Given the description of an element on the screen output the (x, y) to click on. 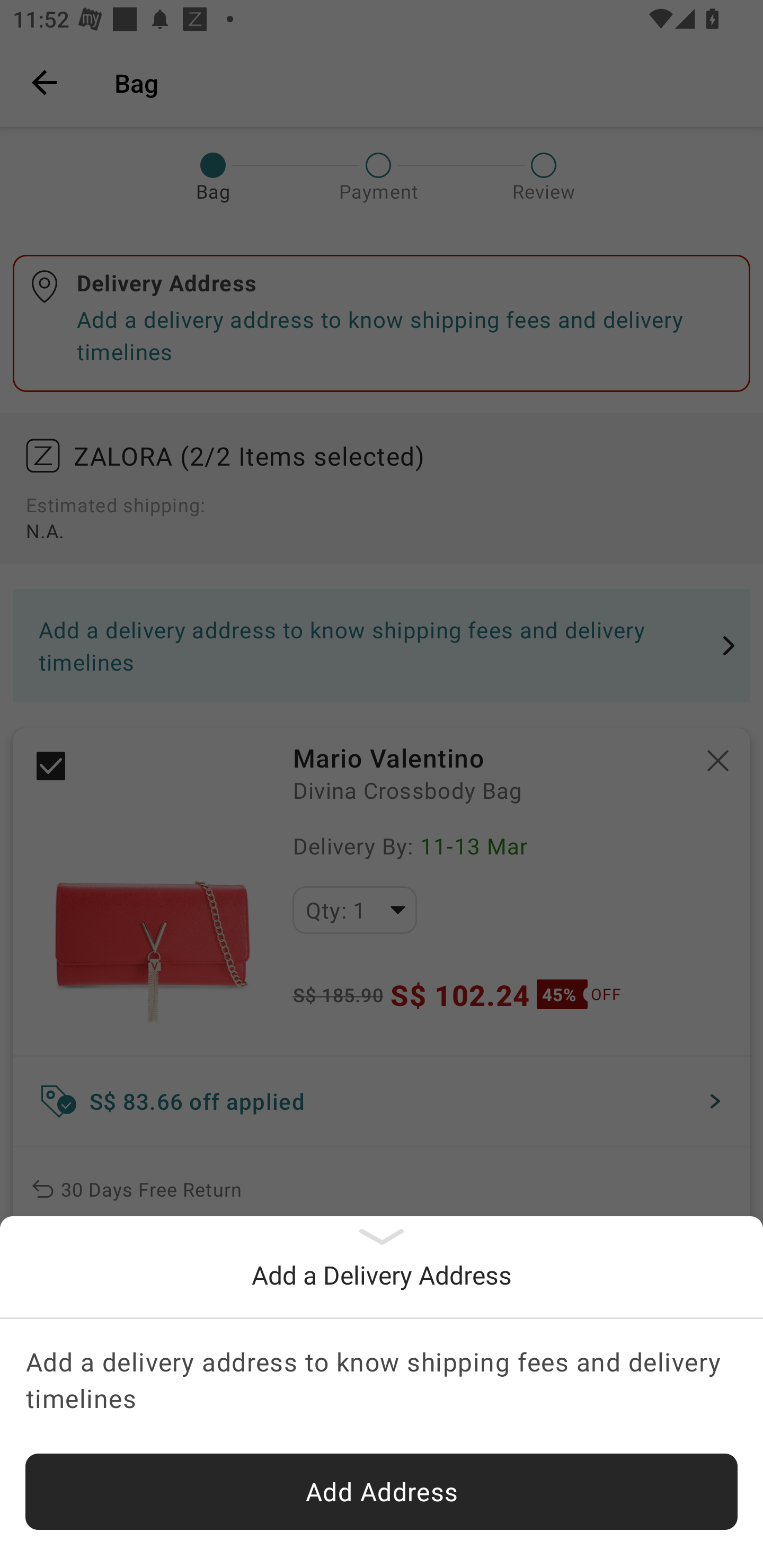
Add Address (381, 1491)
